Given the description of an element on the screen output the (x, y) to click on. 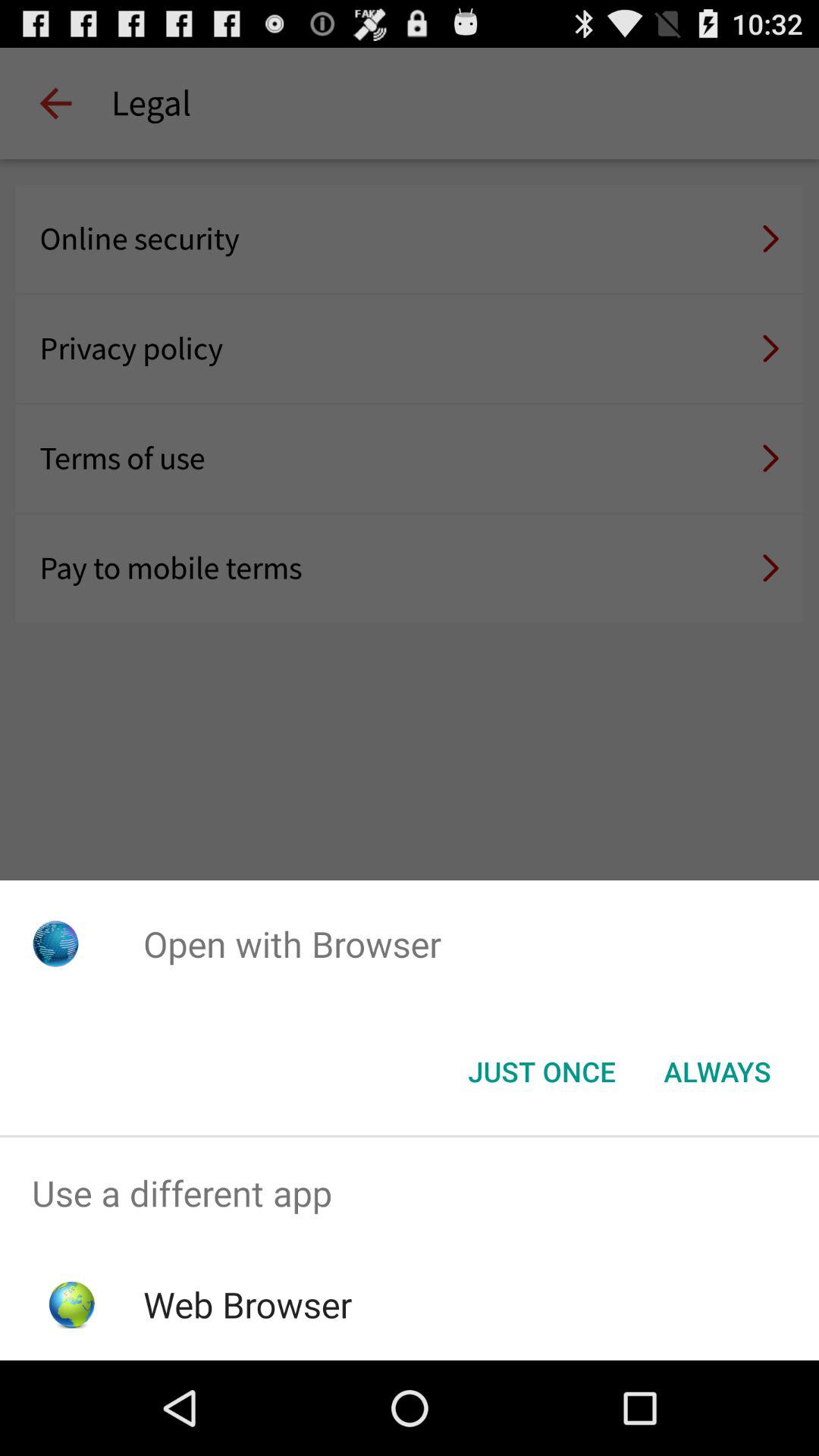
turn on the button next to just once button (717, 1071)
